Given the description of an element on the screen output the (x, y) to click on. 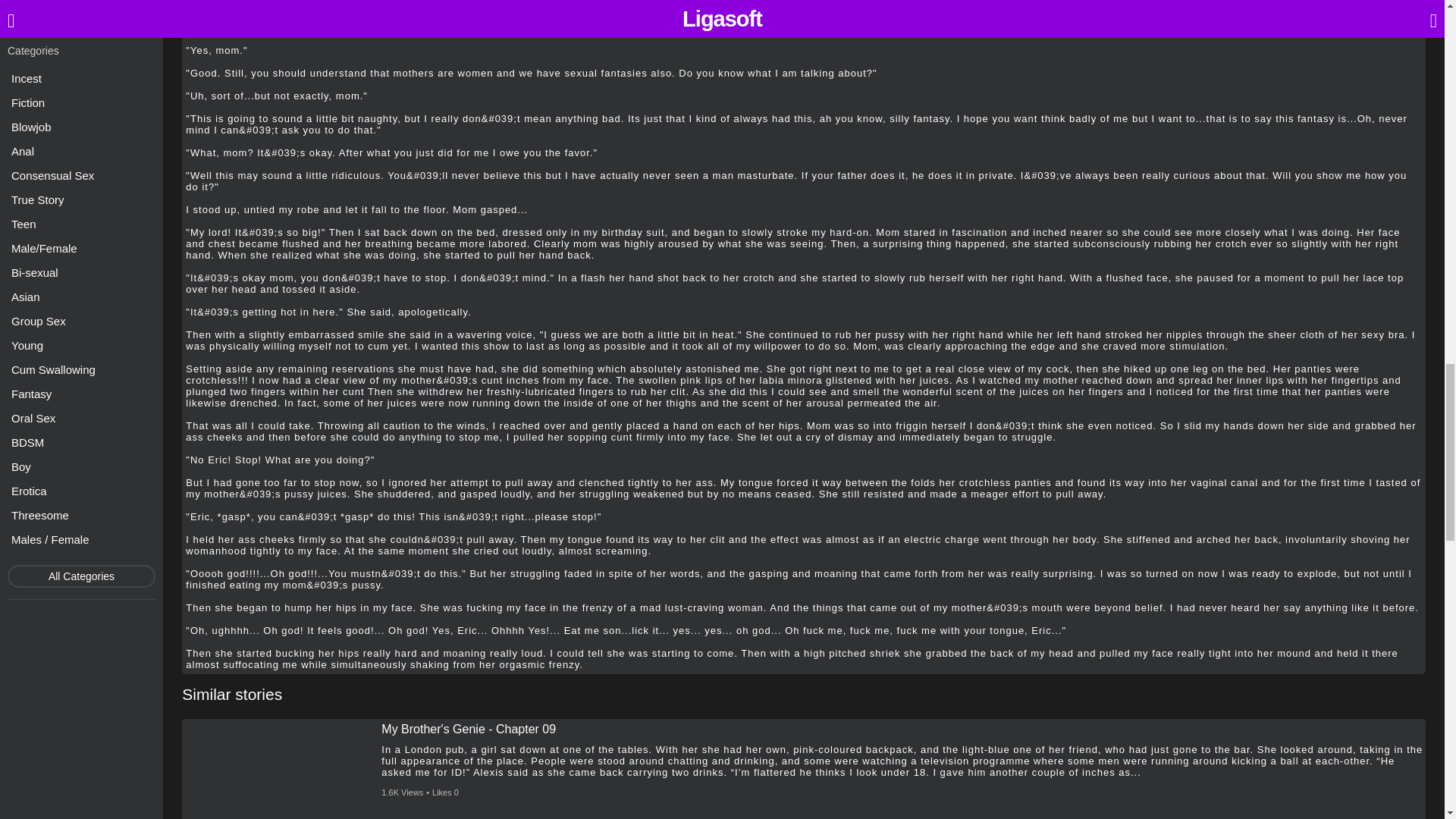
My Brother's Genie - Chapter 09 (468, 729)
